Given the description of an element on the screen output the (x, y) to click on. 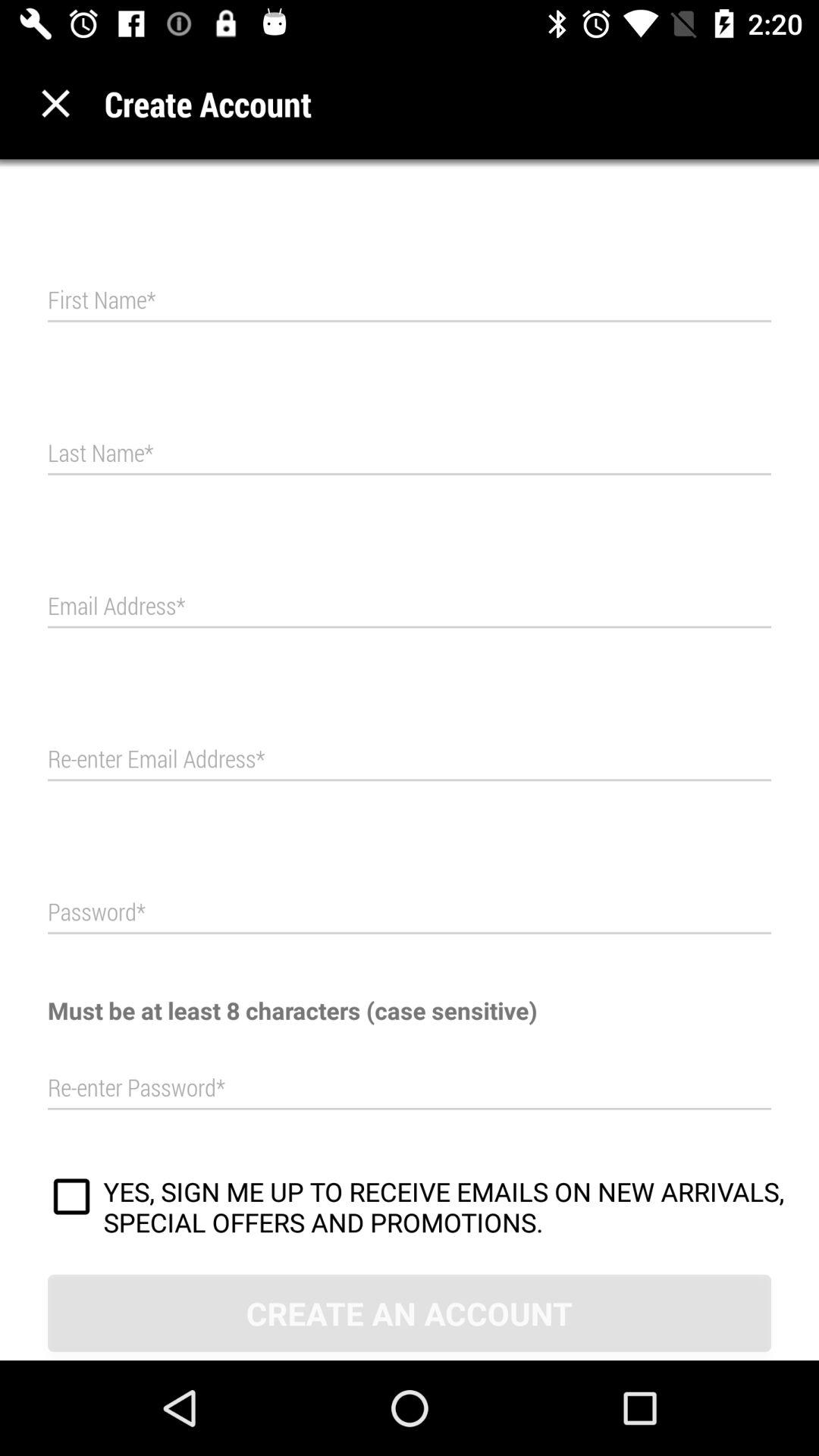
password confrimation (409, 1088)
